Given the description of an element on the screen output the (x, y) to click on. 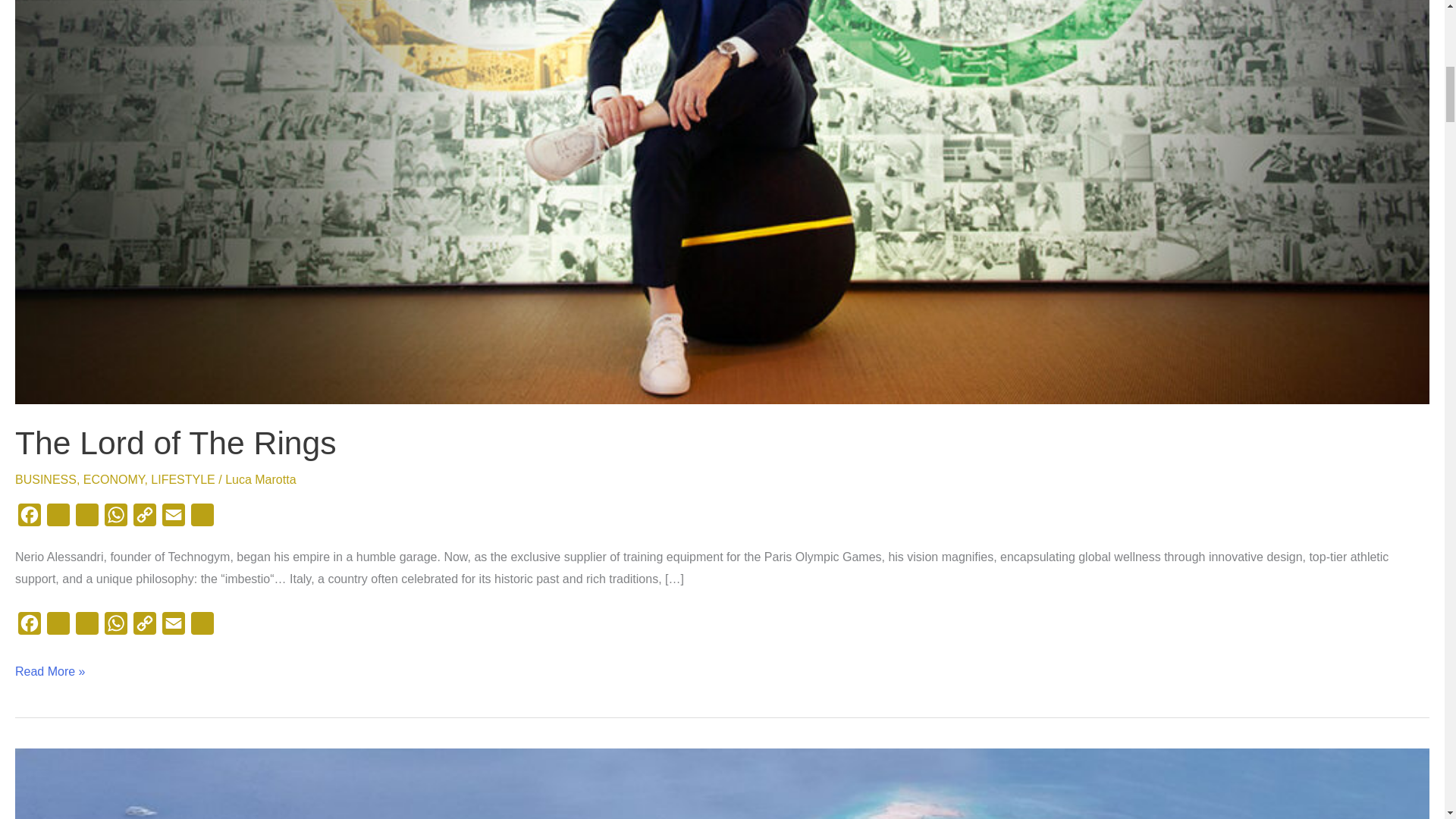
Email (172, 626)
LinkedIn (86, 518)
Share (201, 518)
Email (172, 626)
Facebook (28, 518)
Email (172, 518)
Share (201, 626)
View all posts by Luca Marotta (260, 479)
ECONOMY (113, 479)
WhatsApp (116, 626)
